Given the description of an element on the screen output the (x, y) to click on. 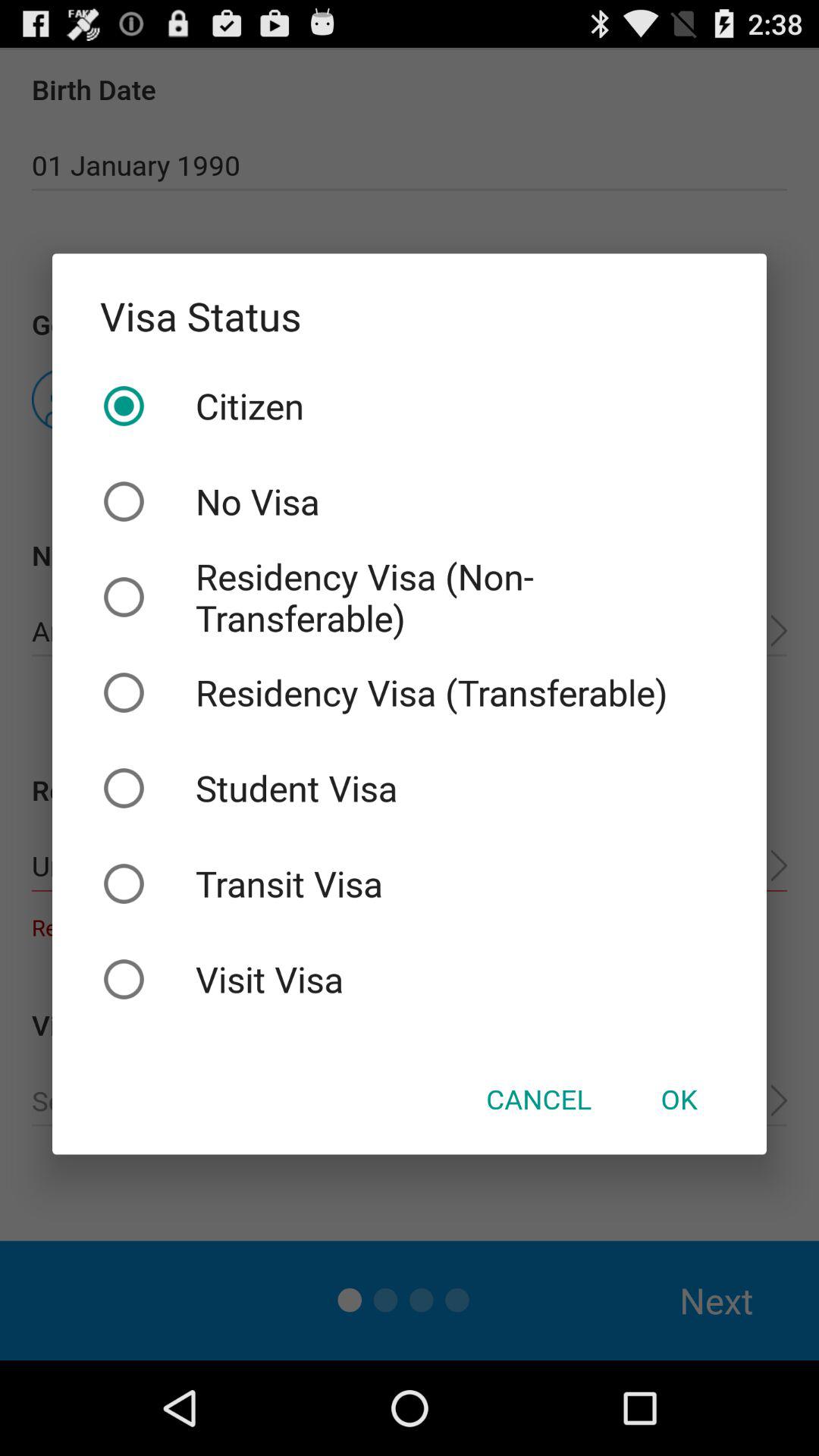
launch the ok item (678, 1098)
